Given the description of an element on the screen output the (x, y) to click on. 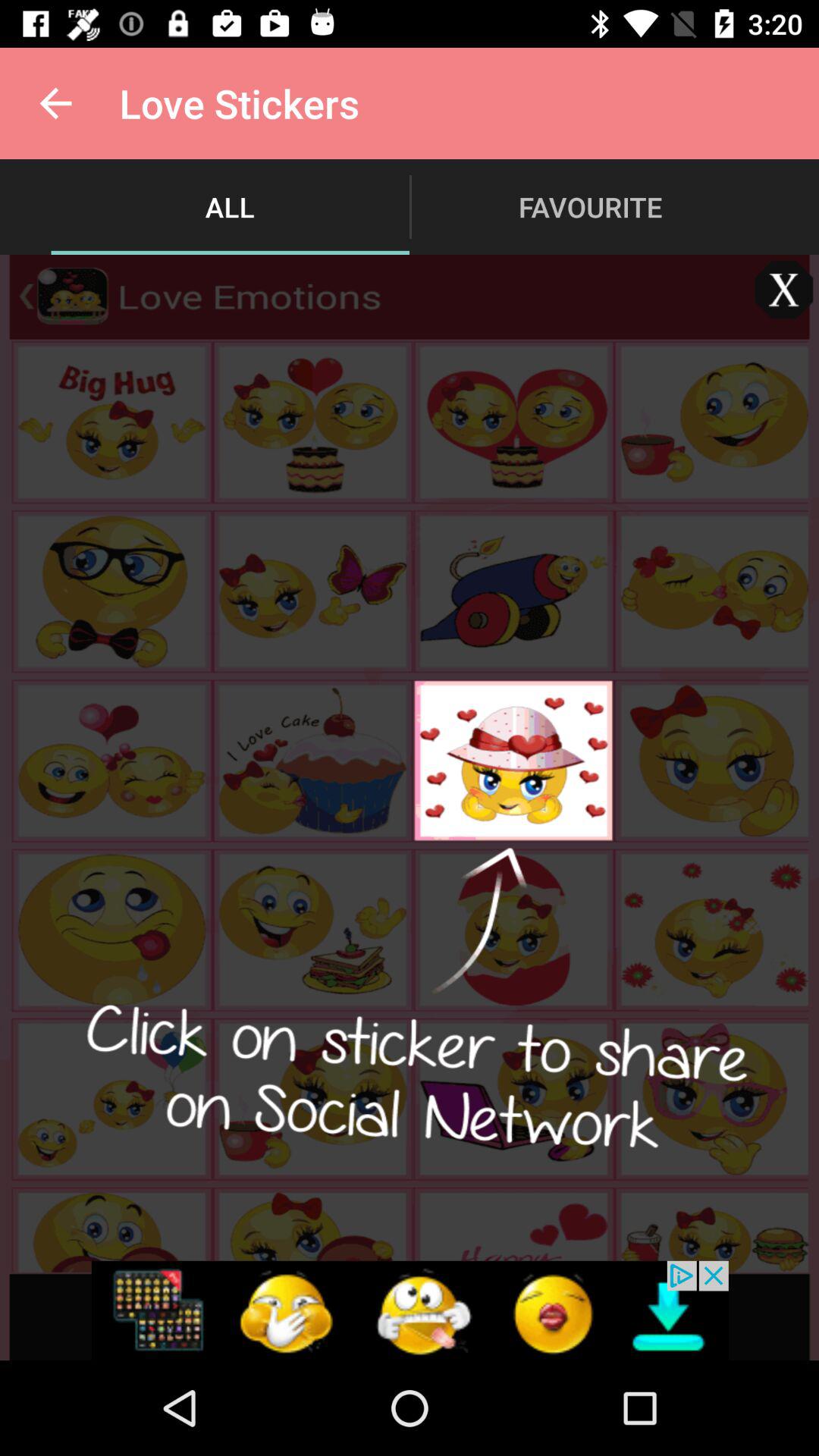
close (784, 289)
